Given the description of an element on the screen output the (x, y) to click on. 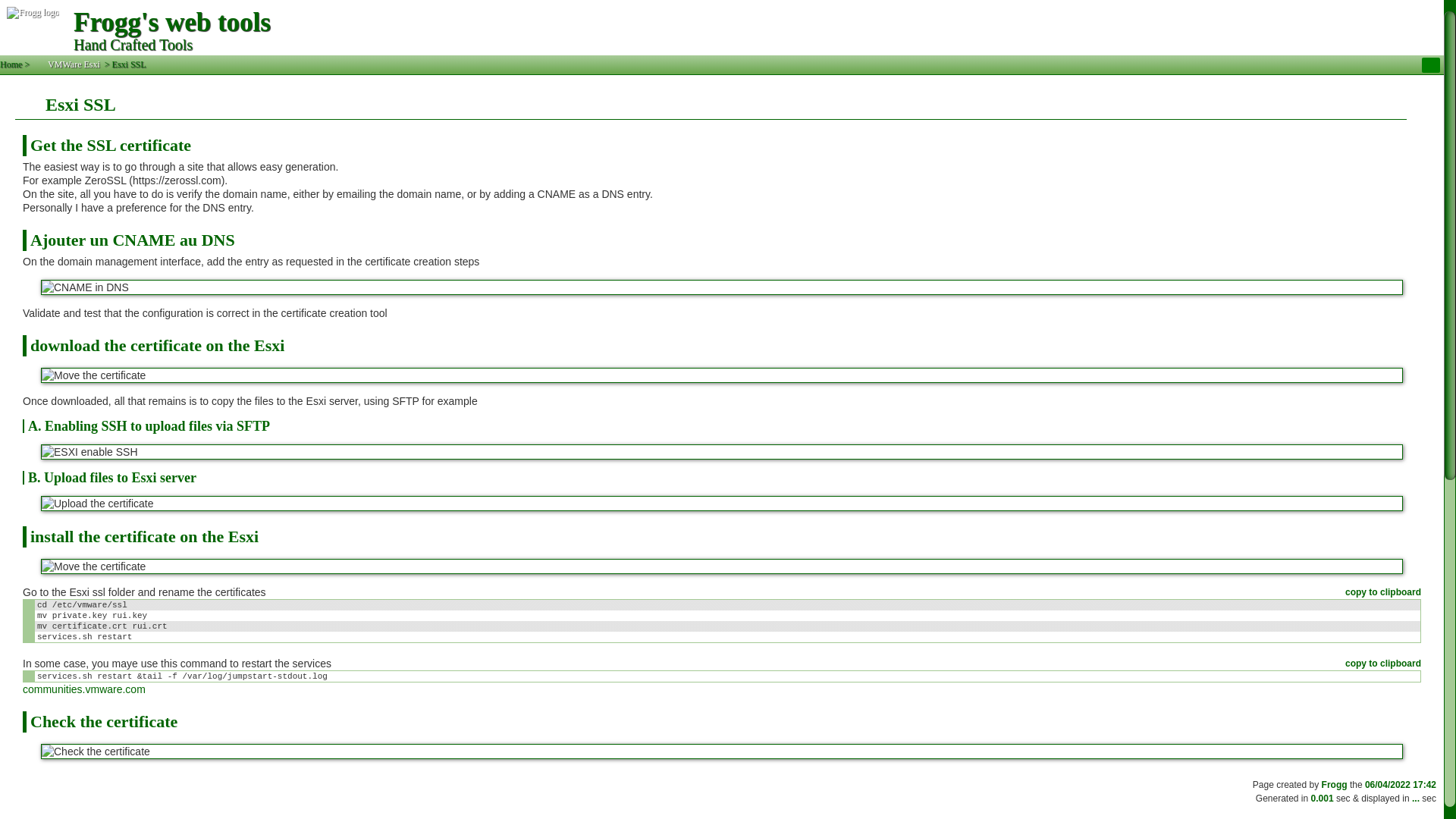
Home (10, 63)
Frogg new logo 2015 (33, 26)
VMWare Esxi (66, 63)
VMWare Esxi (66, 63)
Home page (10, 63)
